Given the description of an element on the screen output the (x, y) to click on. 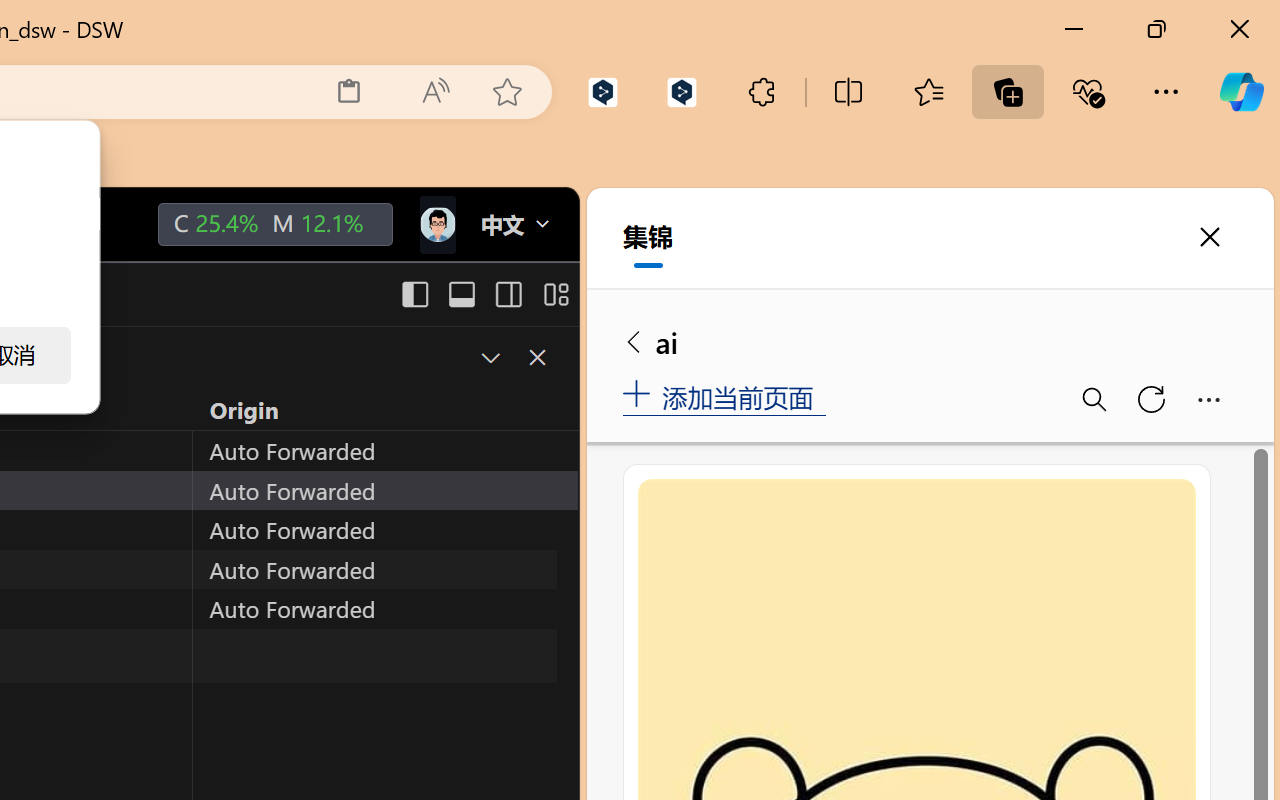
Toggle Secondary Side Bar (Ctrl+Alt+B) (506, 294)
Restore Panel Size (488, 357)
Toggle Primary Side Bar (Ctrl+B) (413, 294)
Class: next-menu next-hoz widgets--iconMenu--BFkiHRM (436, 225)
Title actions (484, 294)
Close Panel (535, 357)
icon (436, 224)
Class: actions-container (516, 358)
